Given the description of an element on the screen output the (x, y) to click on. 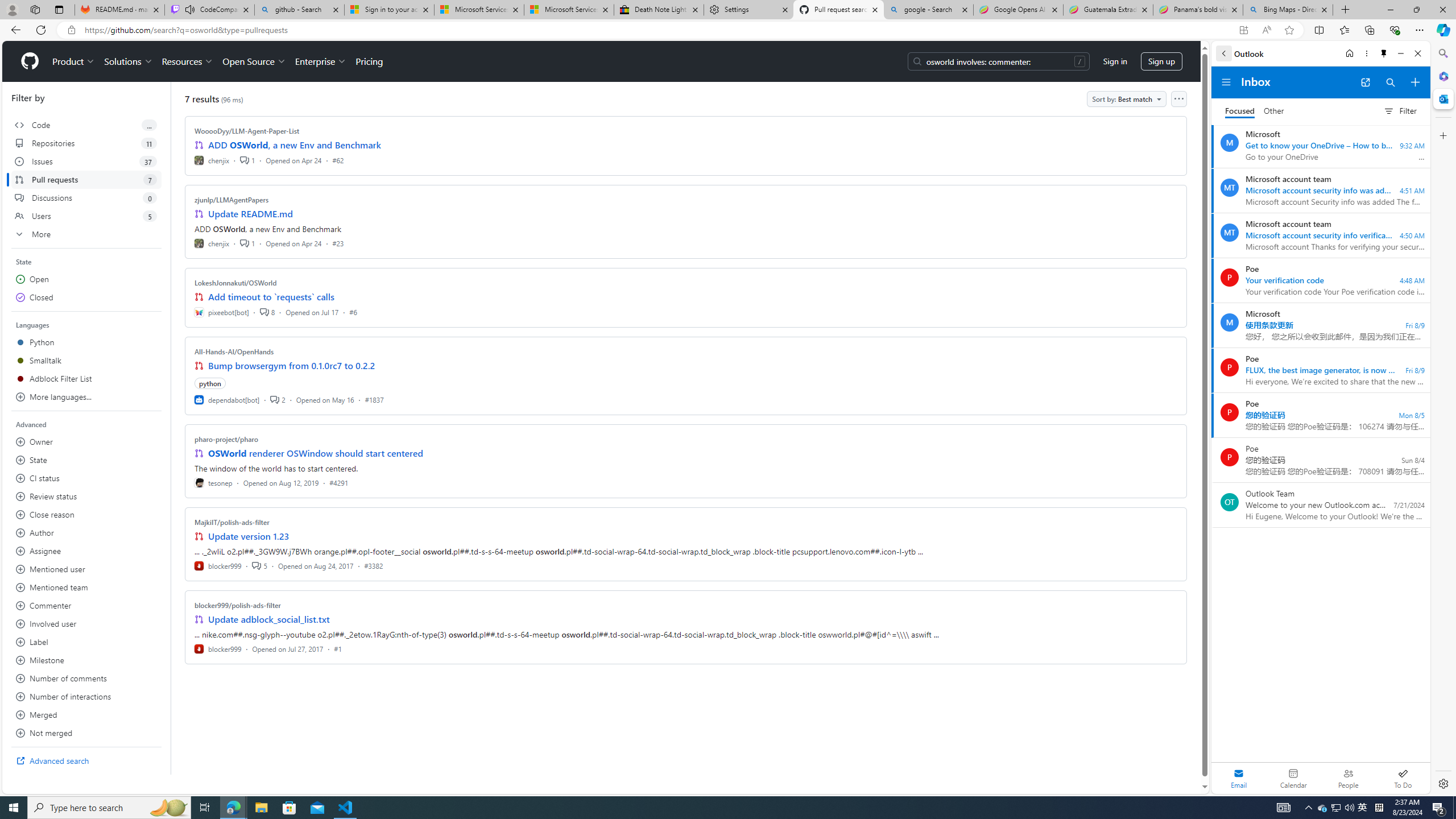
8 (267, 311)
Sign in (1115, 61)
Add timeout to `requests` calls (271, 296)
Sign in to your account (389, 9)
To Do (1402, 777)
Product (74, 60)
Resources (187, 60)
Open in new tab (1365, 82)
